Given the description of an element on the screen output the (x, y) to click on. 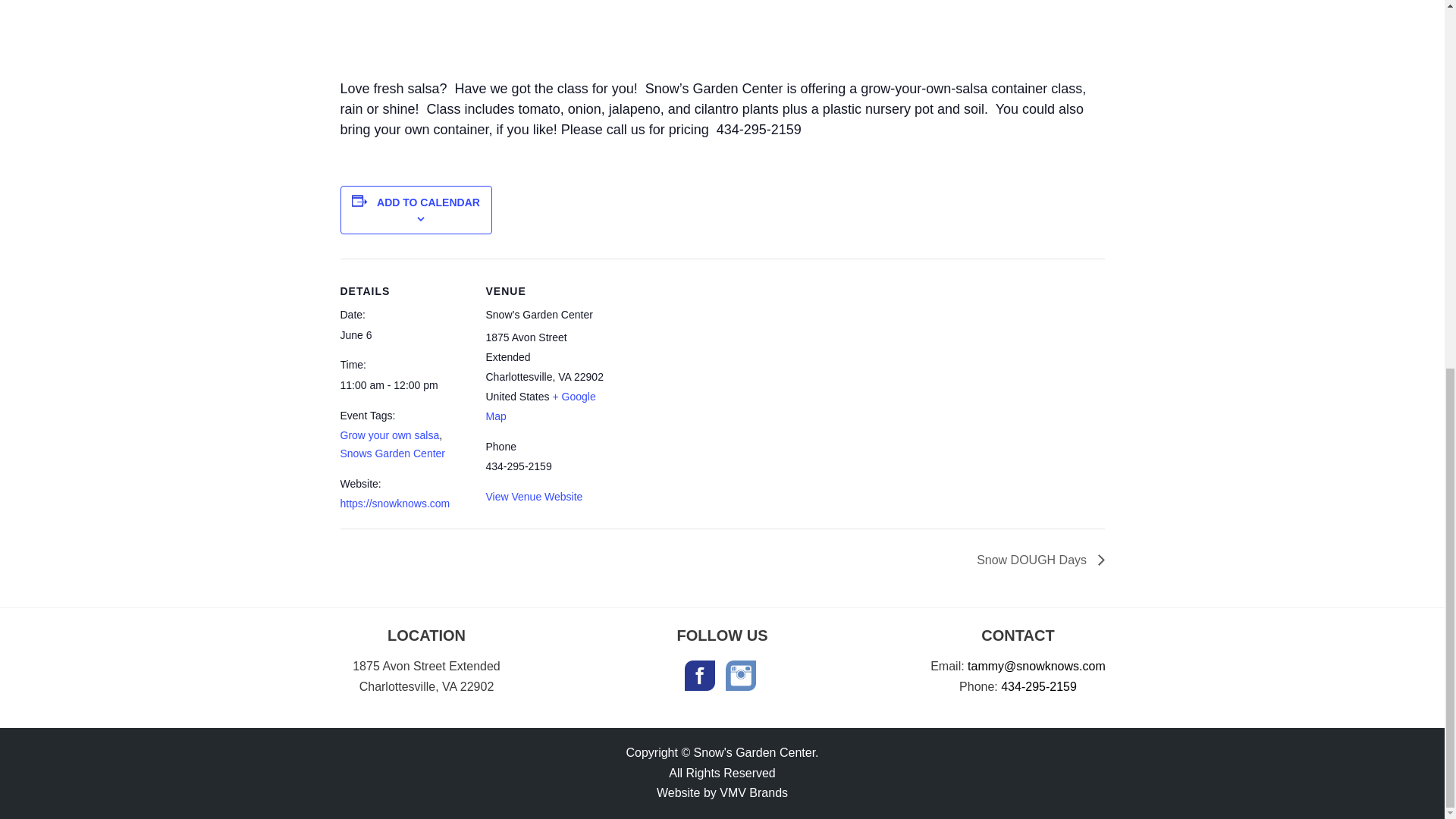
Snow DOUGH Days (1035, 559)
Grow your own salsa (389, 435)
View Venue Website (533, 496)
ADD TO CALENDAR (428, 202)
Snows Garden Center (392, 453)
Click to view a Google Map (539, 406)
434-295-2159 (1039, 686)
Virginia (563, 377)
2024-06-06 (355, 335)
2024-06-06 (403, 385)
